Given the description of an element on the screen output the (x, y) to click on. 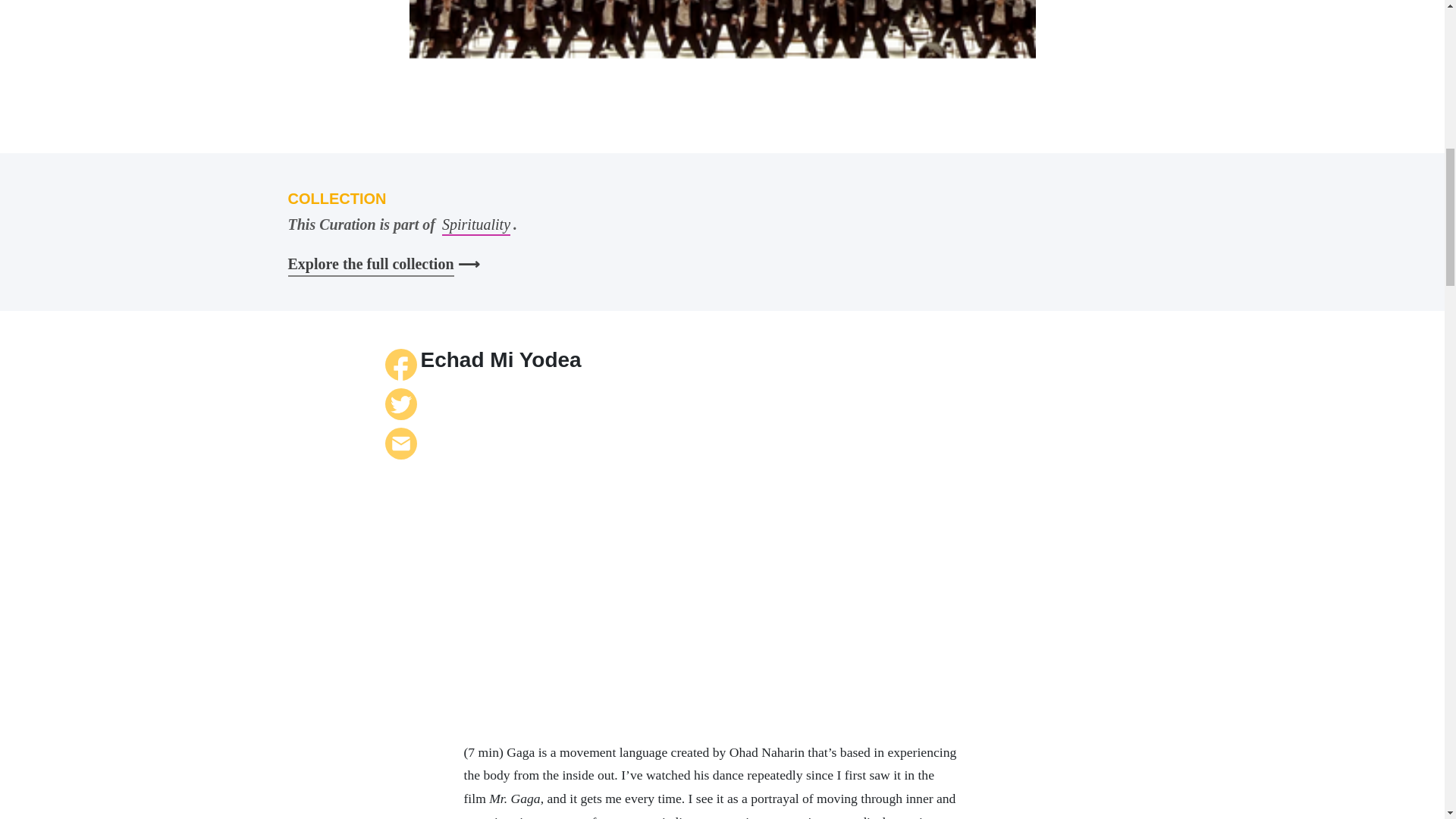
Twitter (400, 404)
Email (400, 443)
Facebook (400, 364)
